Given the description of an element on the screen output the (x, y) to click on. 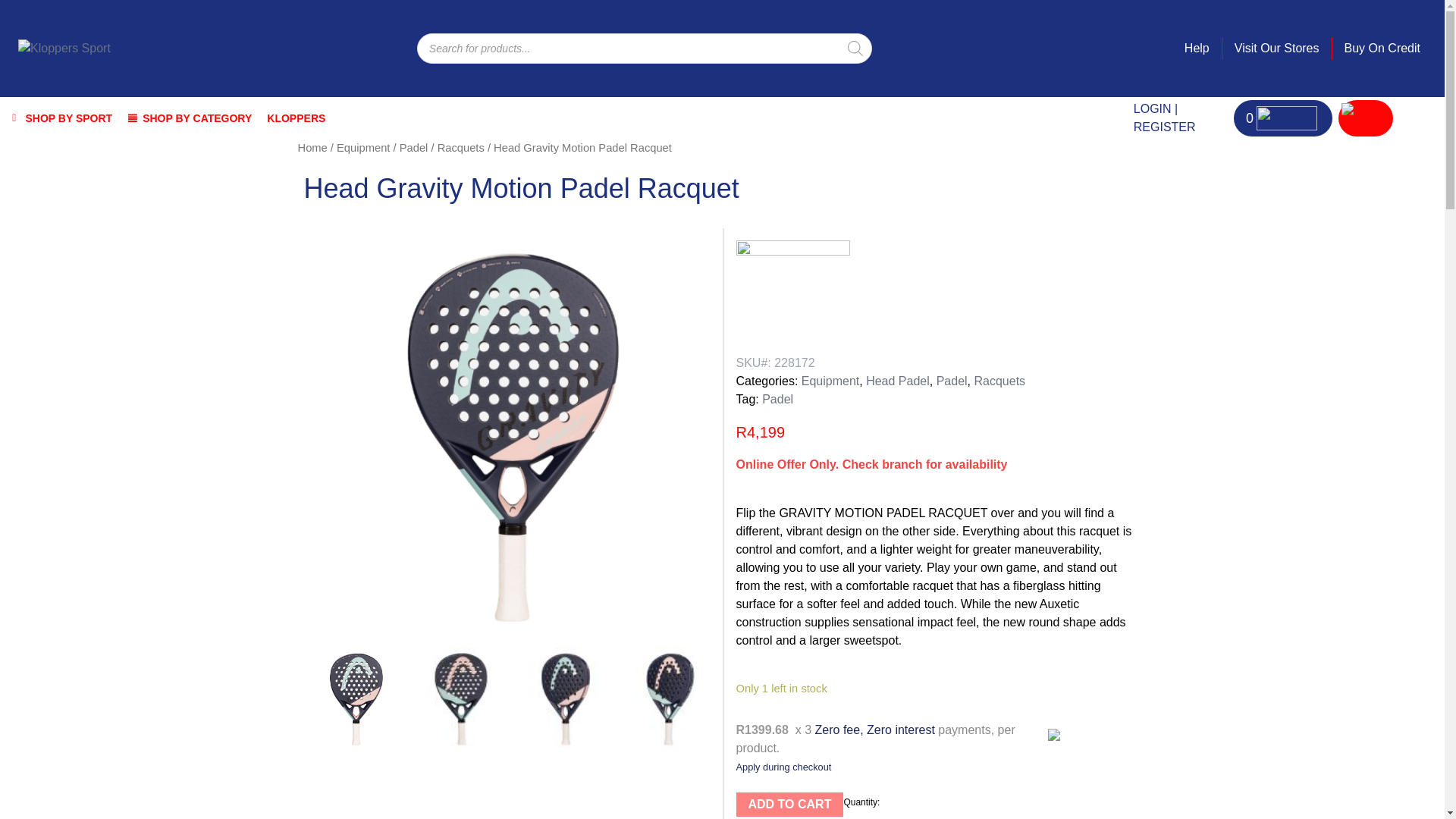
Buy On Credit (1382, 47)
Help (1197, 47)
SHOP BY CATEGORY (189, 118)
Visit Our Stores (1277, 47)
SHOP BY SPORT (59, 118)
Head (791, 296)
